Given the description of an element on the screen output the (x, y) to click on. 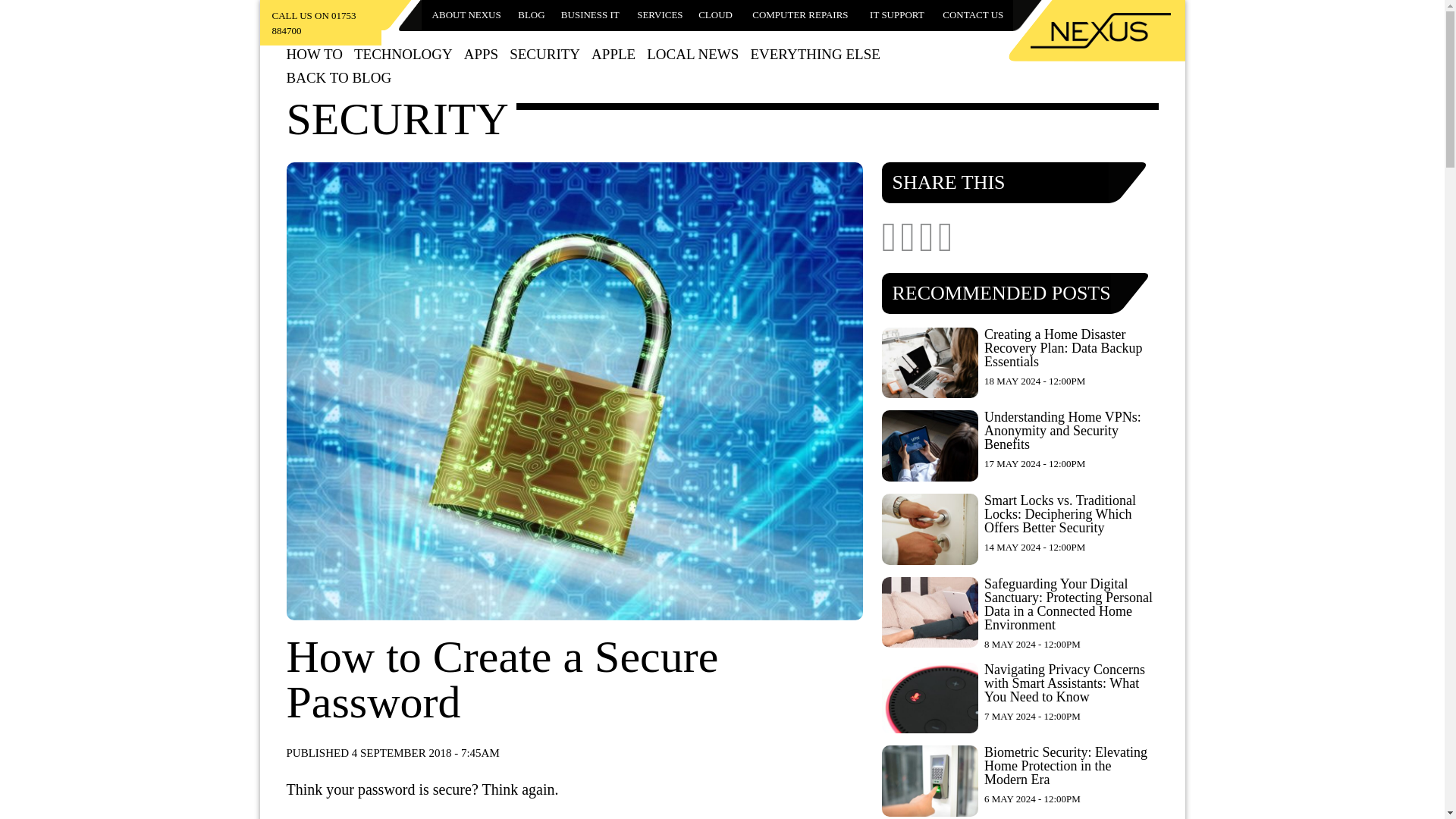
IT SUPPORT (896, 15)
CONTACT US (973, 15)
BLOG (531, 15)
SERVICES (659, 15)
CLOUD (715, 15)
Share by Email (945, 244)
COMPUTER REPAIRS (800, 15)
BUSINESS IT (589, 15)
ABOUT NEXUS (466, 15)
